Given the description of an element on the screen output the (x, y) to click on. 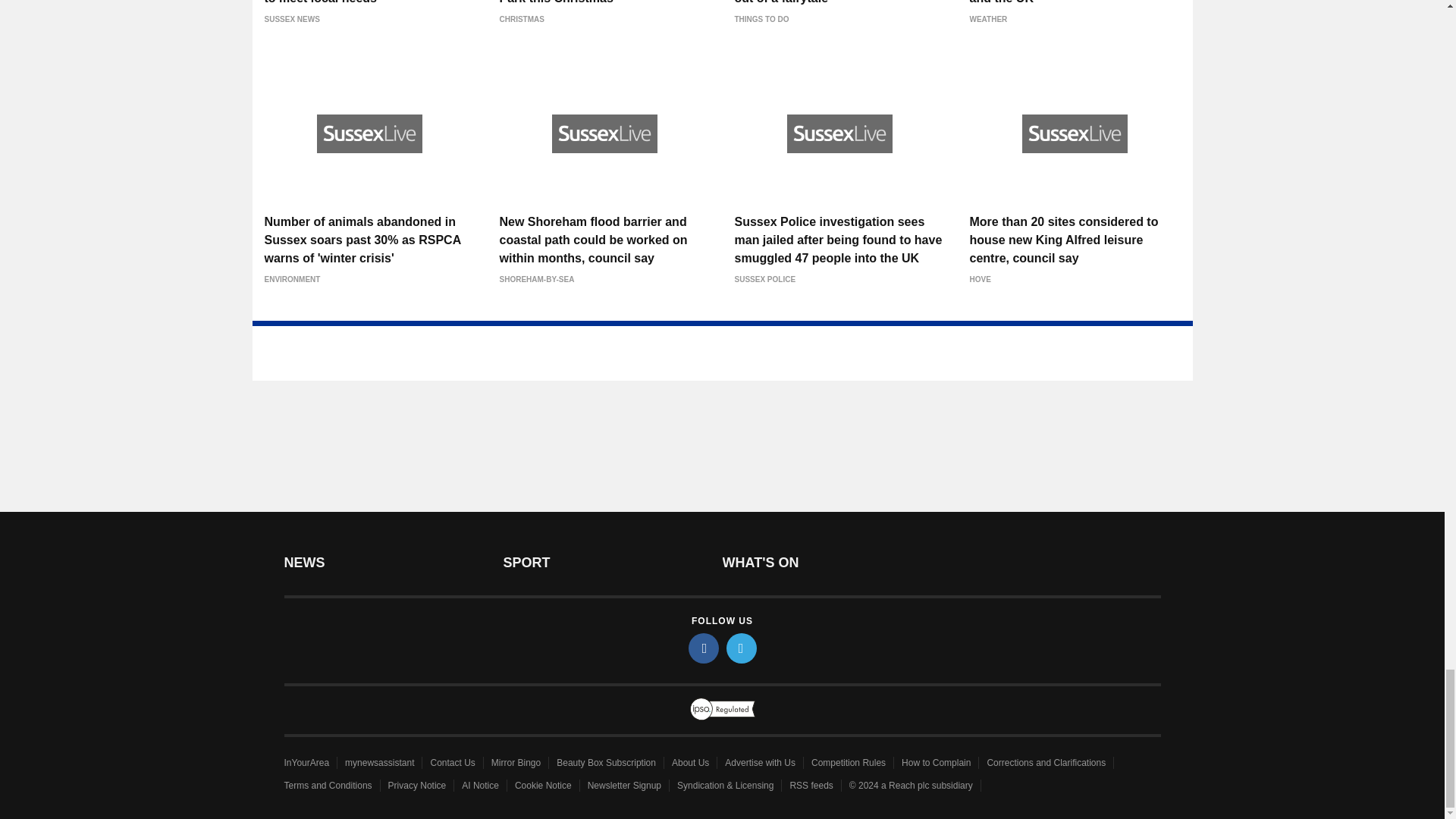
facebook (703, 648)
twitter (741, 648)
